Given the description of an element on the screen output the (x, y) to click on. 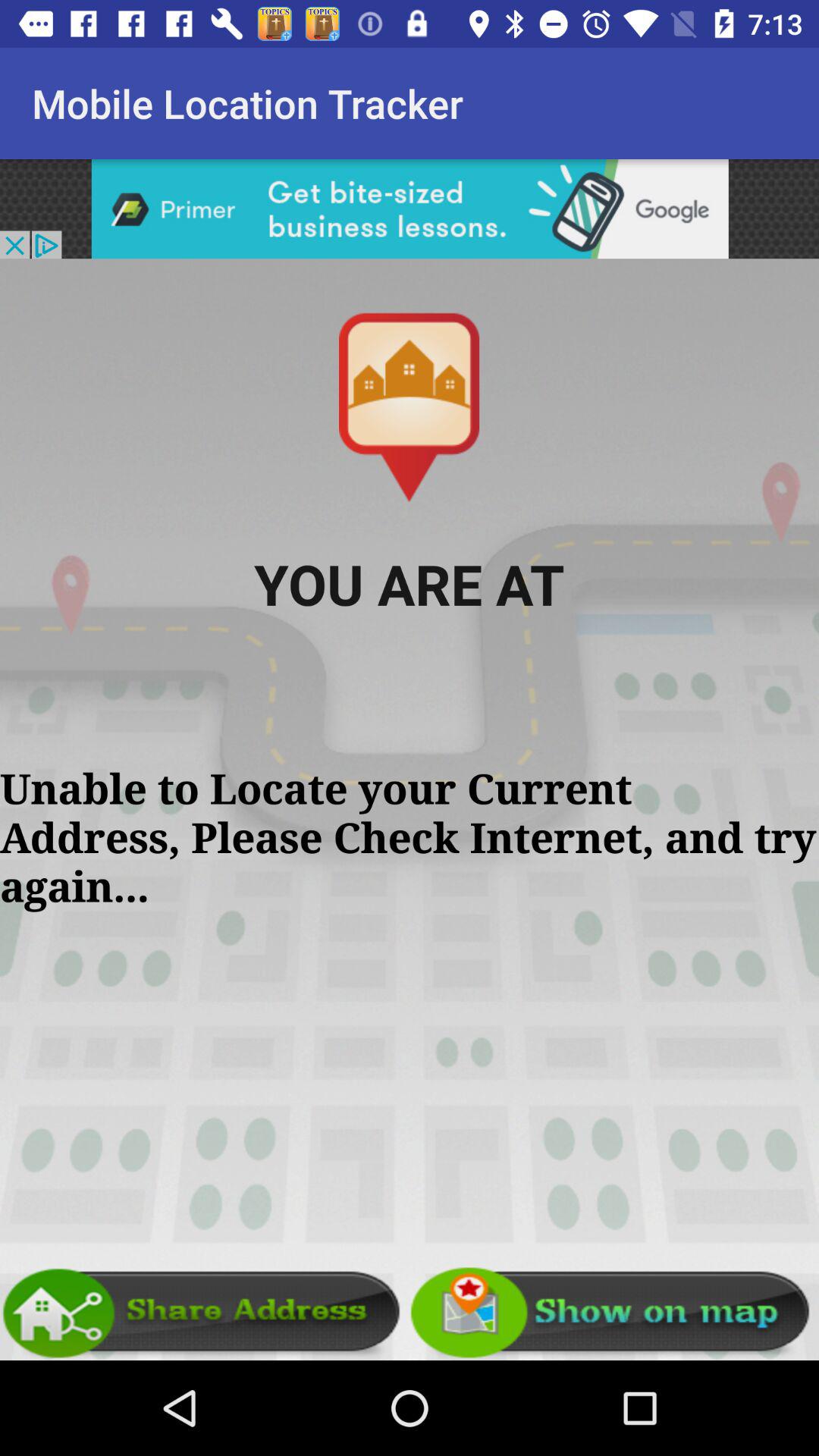
select the share address (204, 1312)
